Given the description of an element on the screen output the (x, y) to click on. 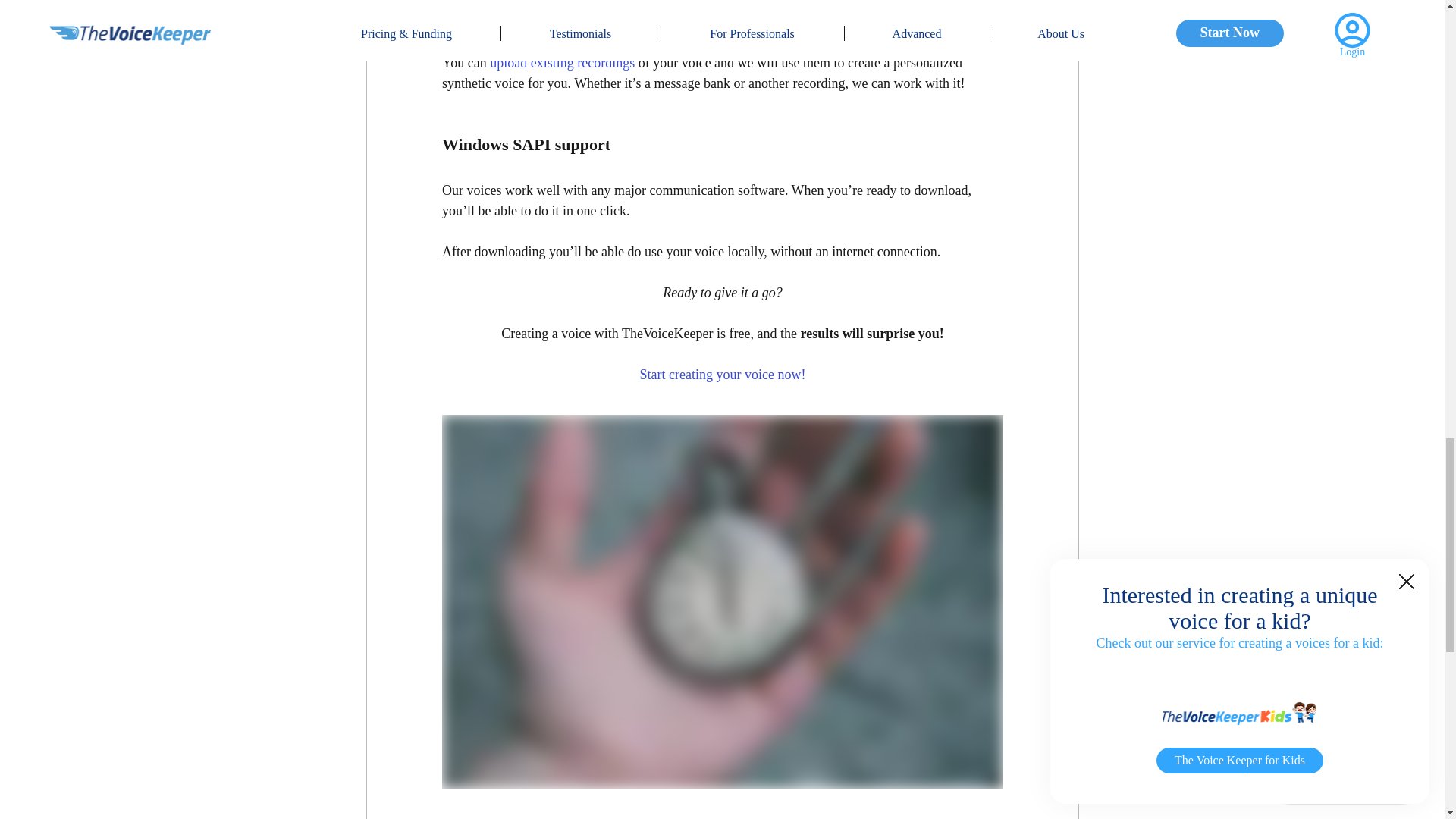
Start creating your voice now! (722, 374)
upload existing recordings (561, 62)
